Given the description of an element on the screen output the (x, y) to click on. 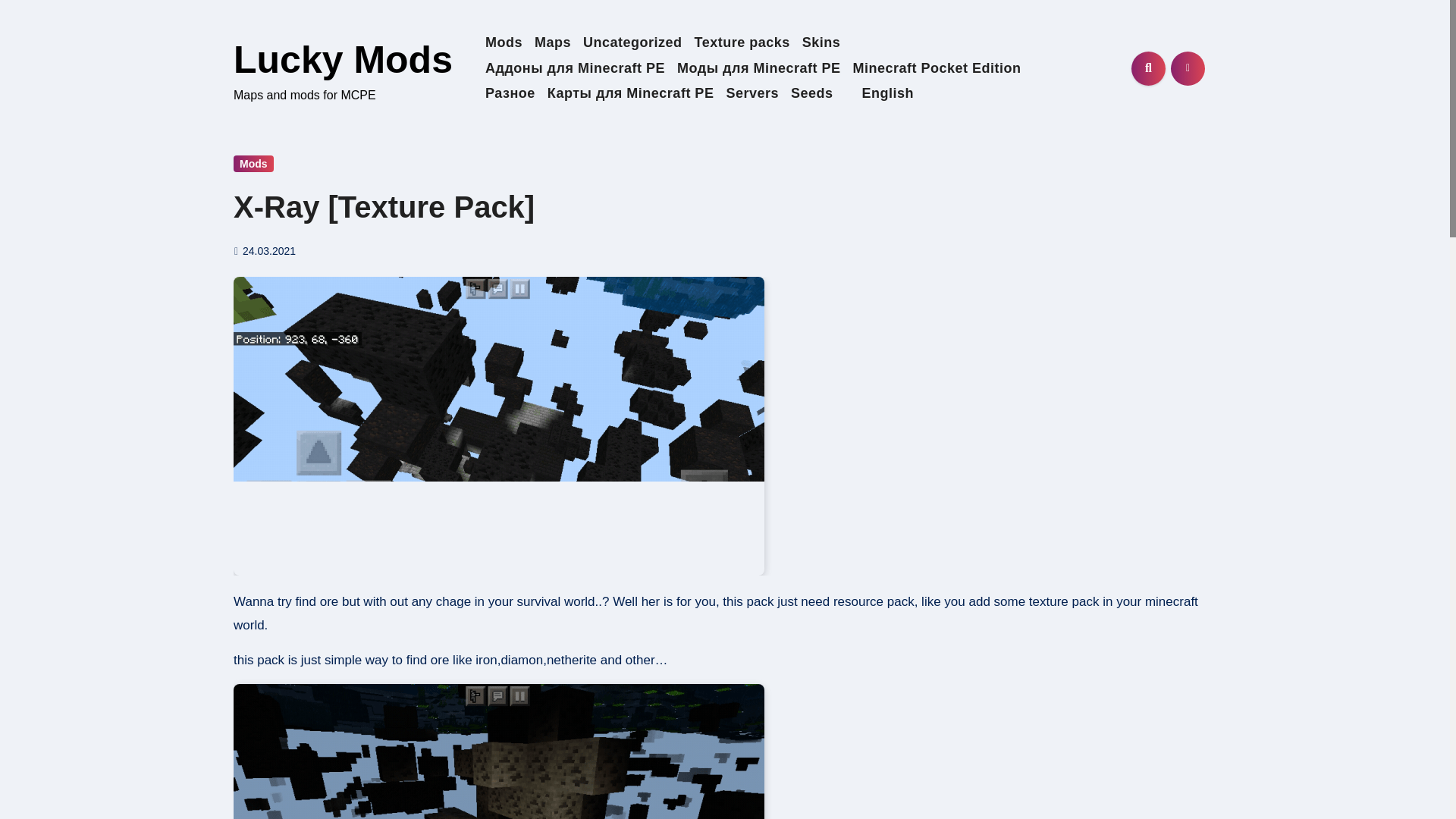
Servers (751, 93)
Mods (252, 163)
Lucky Mods (342, 59)
Texture packs (742, 42)
Servers (751, 93)
Texture packs (742, 42)
Uncategorized (632, 42)
Mods (503, 42)
24.03.2021 (269, 250)
Minecraft Pocket Edition (935, 67)
